Given the description of an element on the screen output the (x, y) to click on. 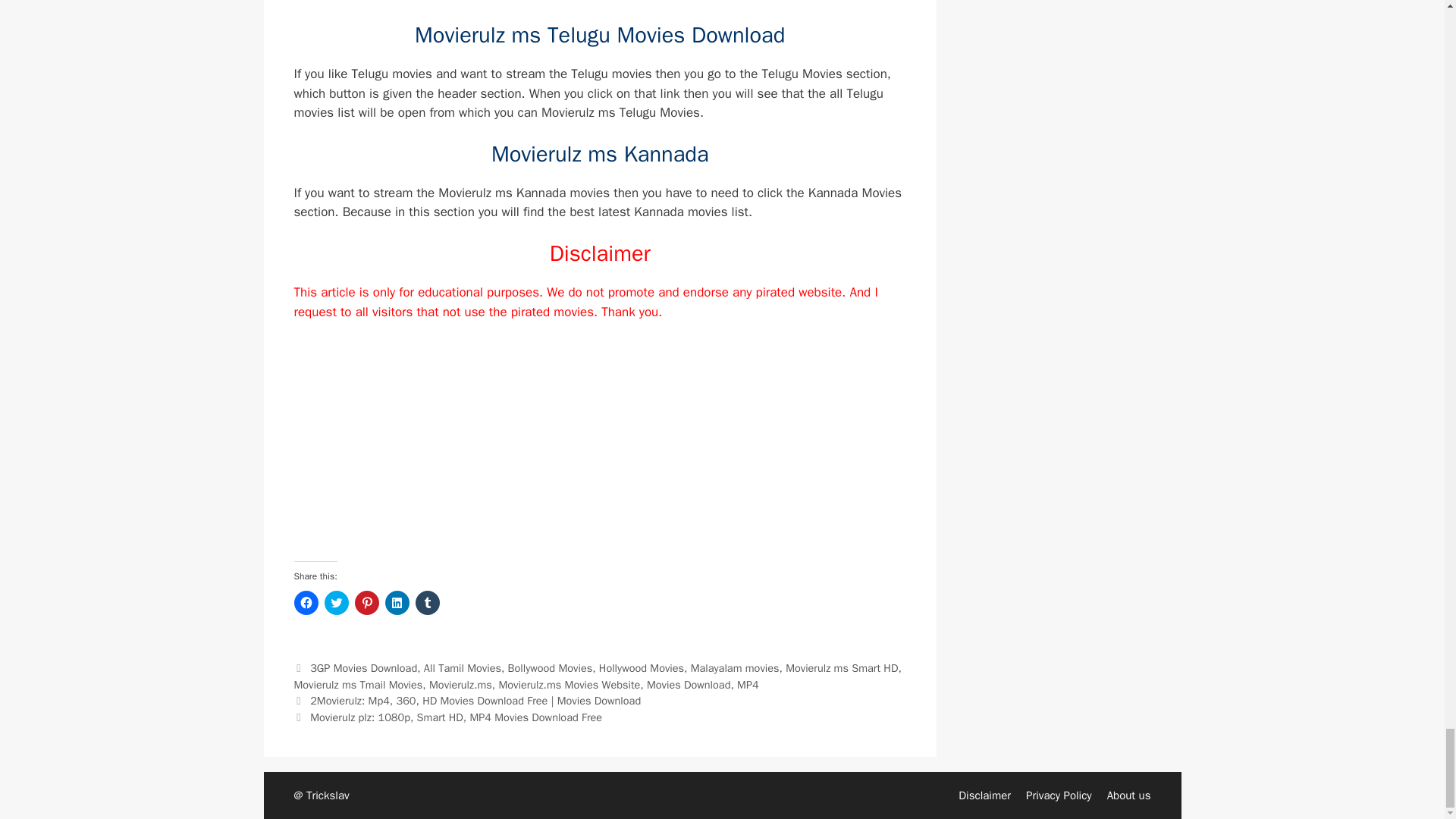
Movierulz ms Smart HD (842, 667)
Click to share on LinkedIn (397, 602)
Movierulz ms Tmail Movies (358, 684)
Movierulz.ms Movies Website (568, 684)
Click to share on Facebook (306, 602)
Movierulz.ms (460, 684)
MP4 (747, 684)
All Tamil Movies (461, 667)
Movierulz plz: 1080p, Smart HD, MP4 Movies Download Free (456, 716)
Movies Download (688, 684)
